Given the description of an element on the screen output the (x, y) to click on. 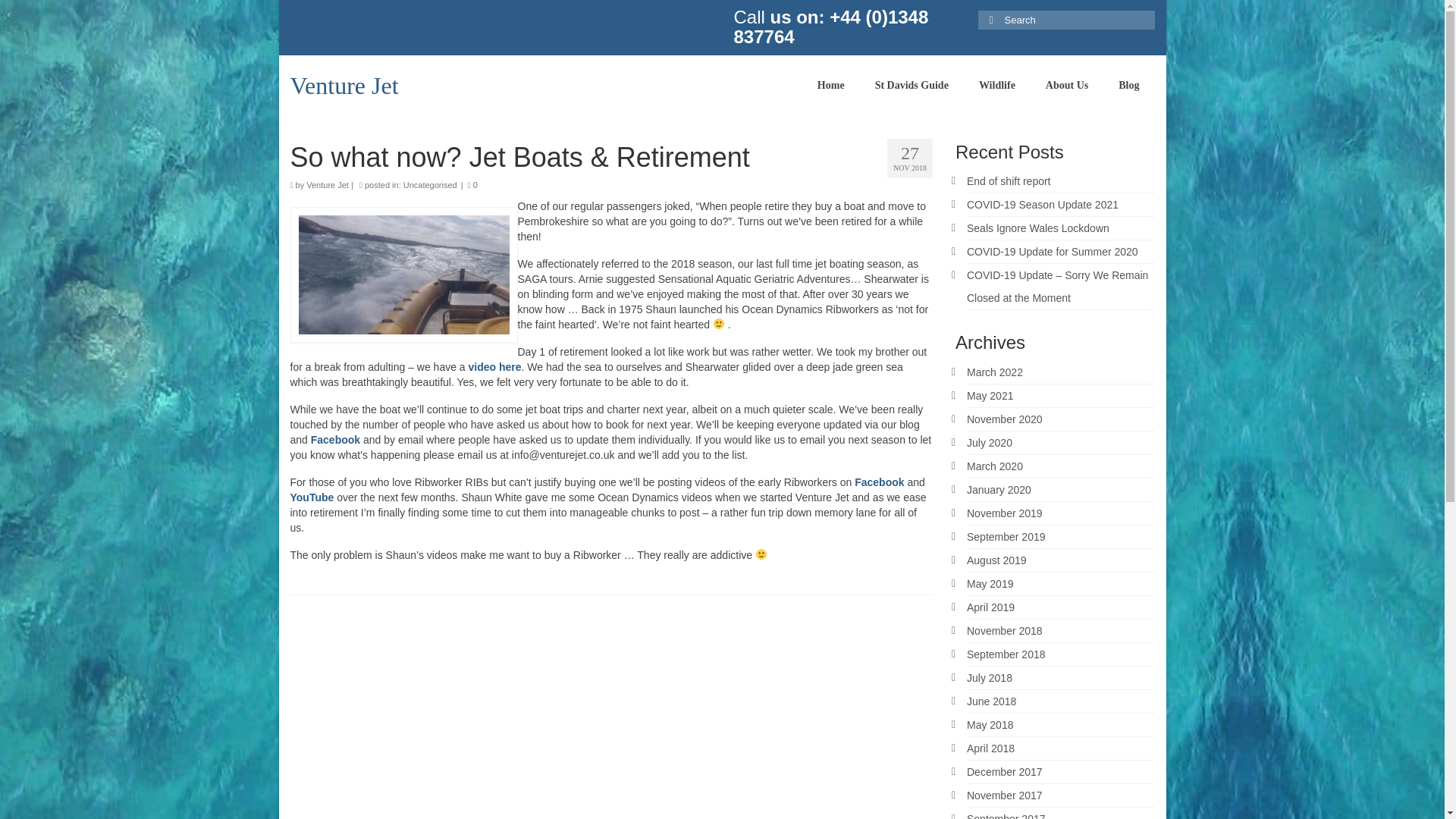
Facebook (879, 481)
September 2019 (1005, 536)
YouTube (311, 497)
Wildlife (996, 85)
Venture Jet (327, 184)
Uncategorised (430, 184)
November 2019 (1004, 512)
0 (472, 184)
About Us (1066, 85)
July 2020 (988, 442)
April 2019 (990, 607)
Seals Ignore Wales Lockdown (1037, 227)
September 2018 (1005, 654)
November 2018 (1004, 630)
End of shift report (1008, 181)
